Given the description of an element on the screen output the (x, y) to click on. 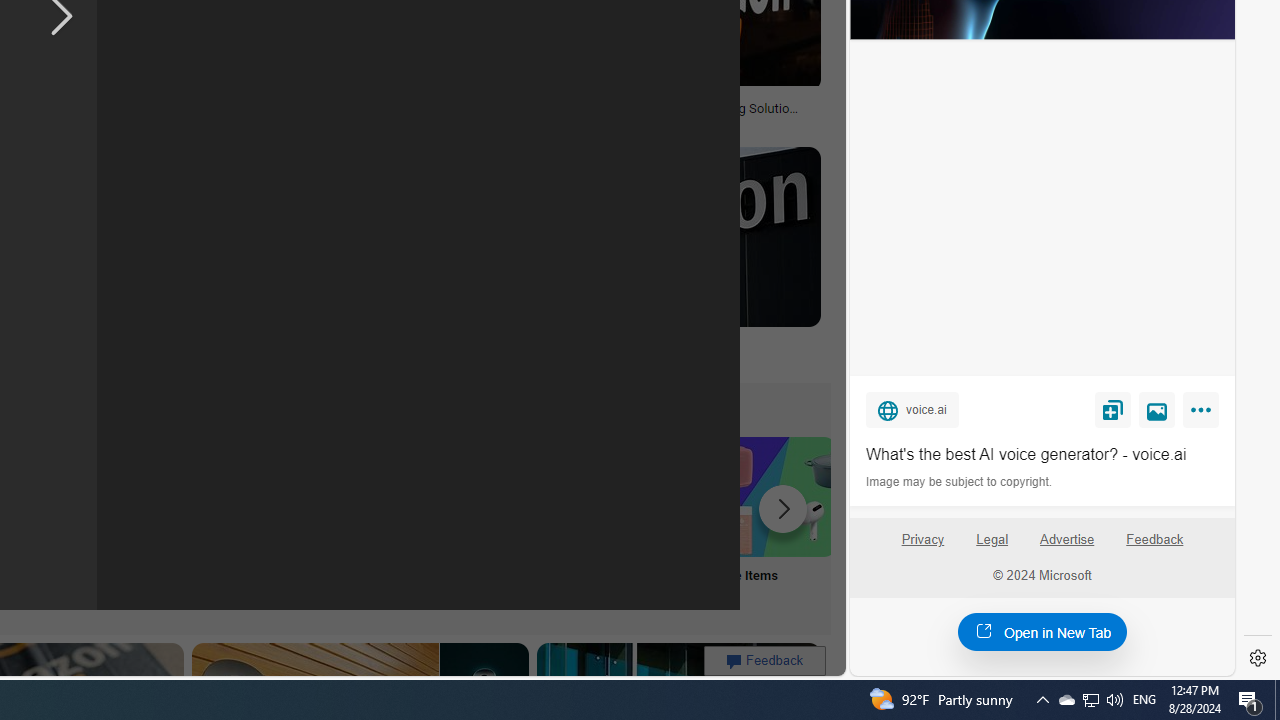
Visa Card Login (643, 521)
vecteezy.com (317, 121)
cordcuttersnews.com (234, 358)
Amazon Visa Card Login Visa Card Login (643, 521)
Image result for amazon (662, 236)
Amazon Visa Card Login (643, 496)
Save (1112, 409)
cordcuttersnews.com (331, 359)
Privacy (922, 547)
Sale Items (775, 521)
Amazon Prime Shopping Online Prime Shopping Online (380, 521)
